Given the description of an element on the screen output the (x, y) to click on. 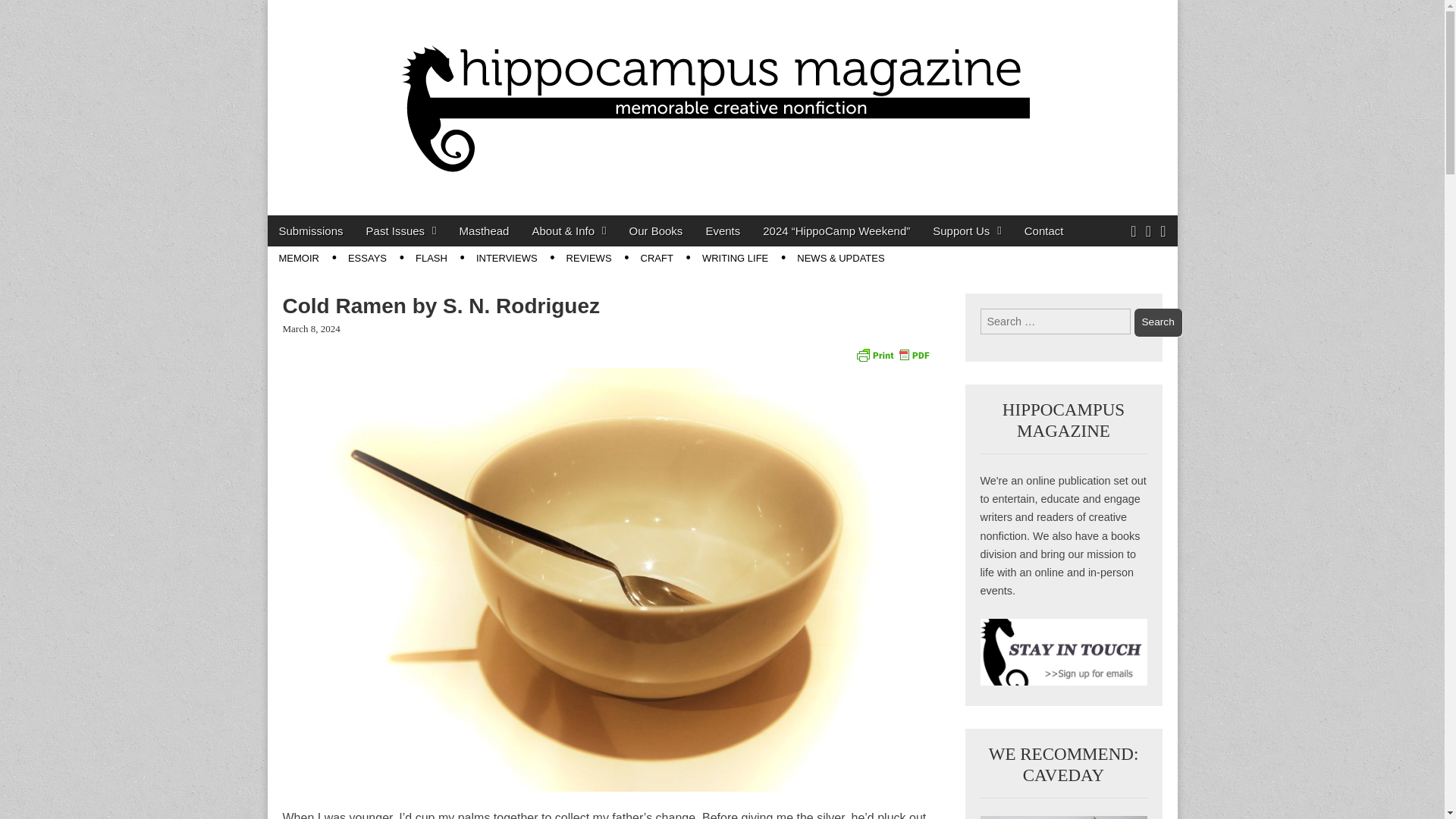
Search (1158, 321)
Submissions (309, 230)
Search (1158, 321)
Past Issues (401, 230)
Hippocampus Magazine (459, 232)
Hippocampus Magazine (459, 232)
